Given the description of an element on the screen output the (x, y) to click on. 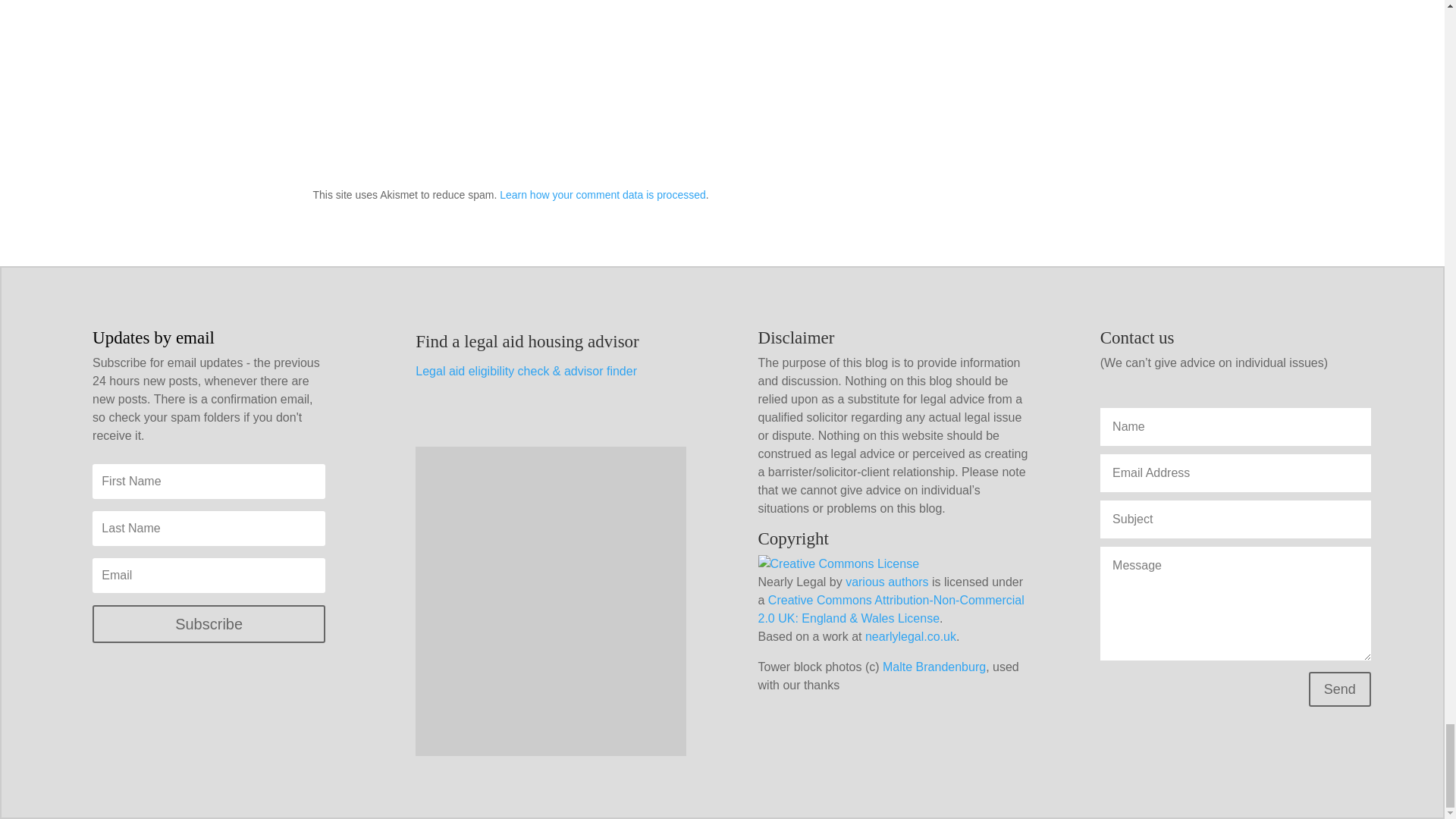
Comment Form (722, 71)
